Given the description of an element on the screen output the (x, y) to click on. 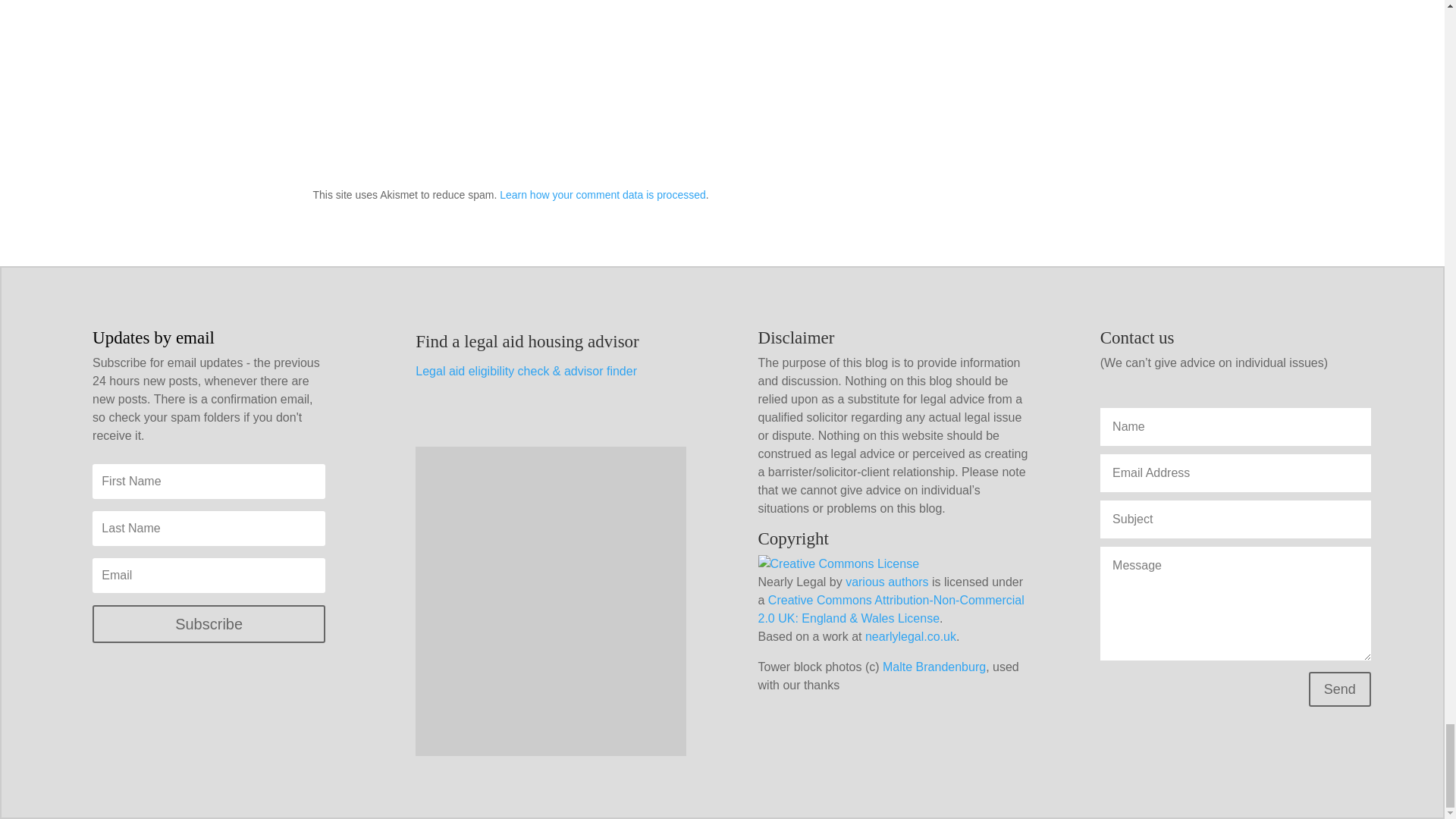
Comment Form (722, 71)
